Given the description of an element on the screen output the (x, y) to click on. 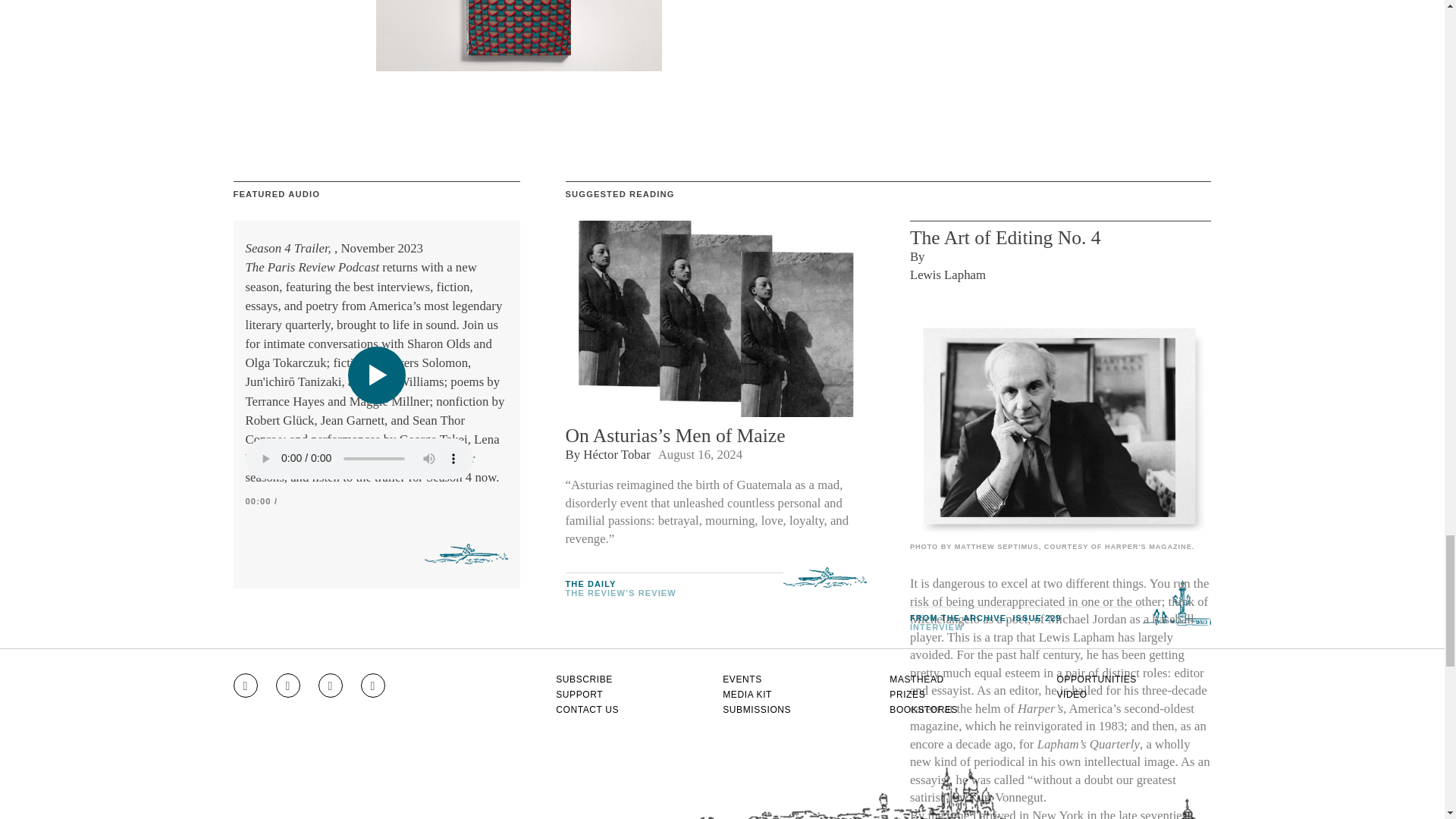
undefined (1060, 425)
Go to RSS feed (373, 685)
Go to Instagram feed (244, 685)
Go to Twitter feed (330, 685)
Go to Facebook page (287, 685)
